Given the description of an element on the screen output the (x, y) to click on. 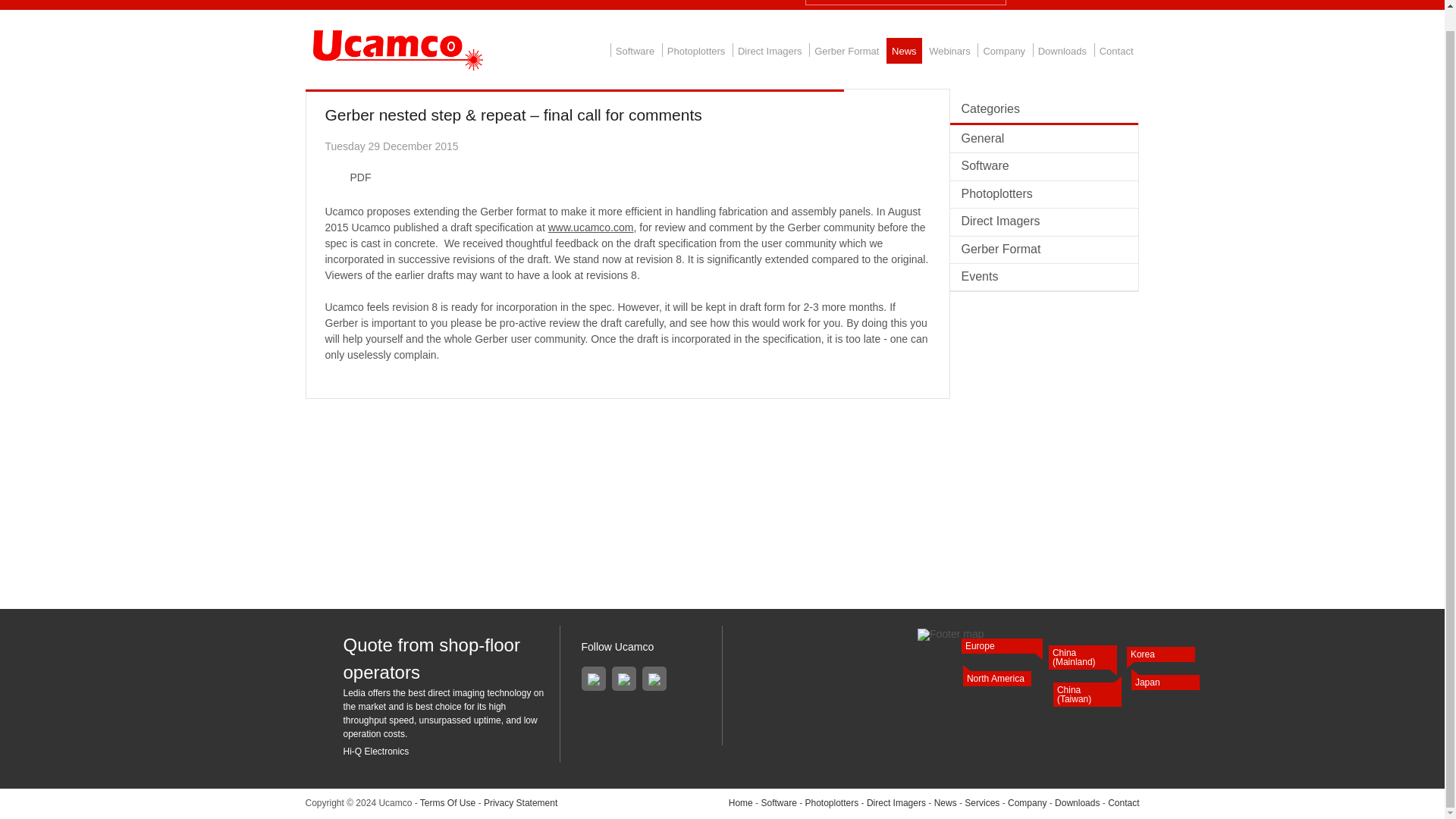
Direct Imagers (770, 50)
General (1043, 139)
Privacy Statement (520, 802)
Downloads (1062, 50)
Webinars (949, 50)
Japan (1165, 682)
www.ucamco.com (590, 227)
Site By Esign (1098, 765)
Software (778, 802)
Photoplotters (1043, 194)
Software (1043, 166)
Contact (1116, 50)
Gerber Format (846, 50)
Direct Imagers (1043, 221)
News (903, 50)
